Given the description of an element on the screen output the (x, y) to click on. 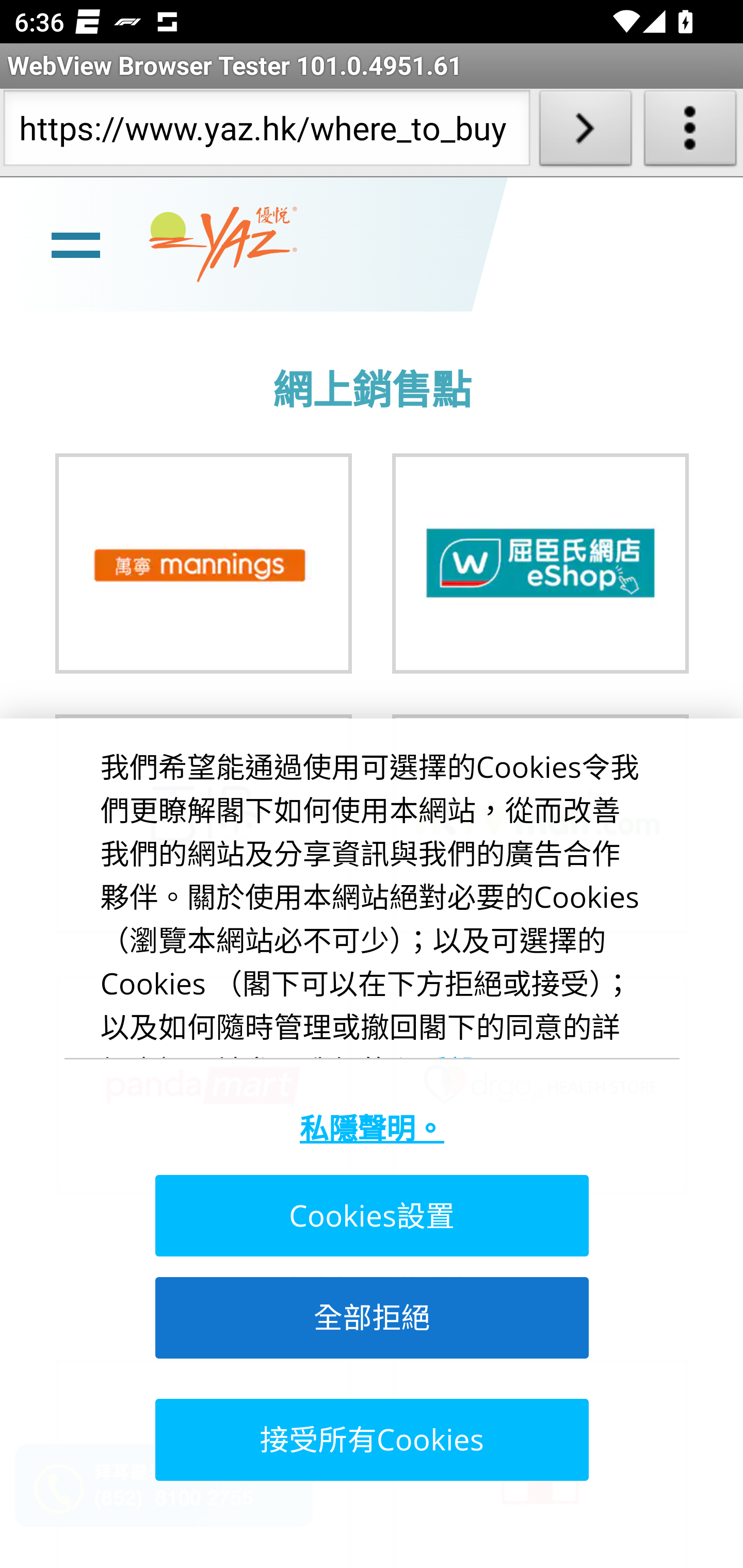
https://www.yaz.hk/where_to_buy (266, 132)
Load URL (585, 132)
About WebView (690, 132)
www.yaz (222, 244)
line Toggle burger menu (75, 242)
867879 (202, 563)
BP_204260 (540, 563)
Cookies設置 (370, 1215)
全部拒絕 (370, 1317)
接受所有Cookies (370, 1439)
